Given the description of an element on the screen output the (x, y) to click on. 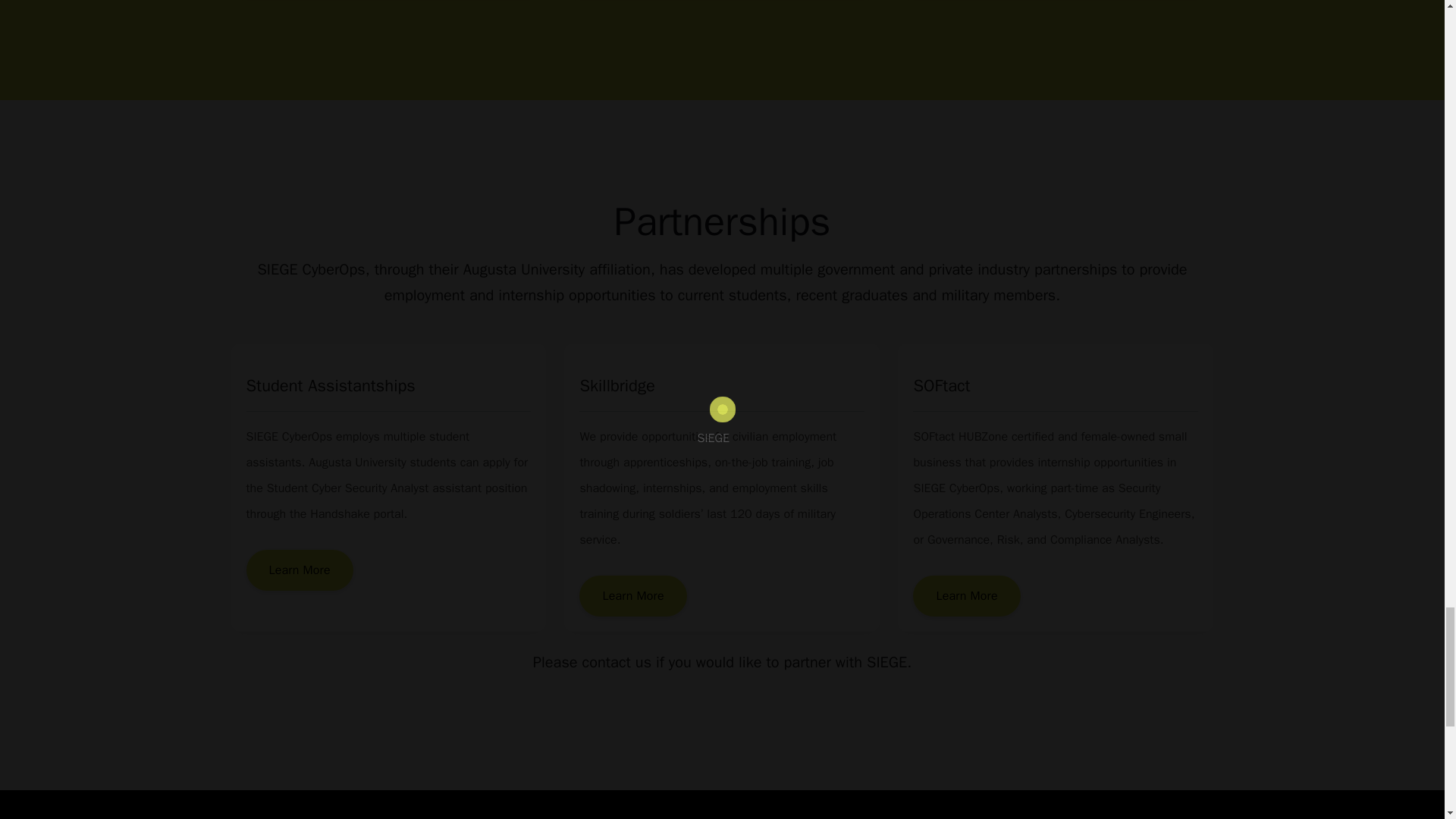
Learn More (966, 595)
Learn More (632, 595)
Learn More (299, 569)
